Given the description of an element on the screen output the (x, y) to click on. 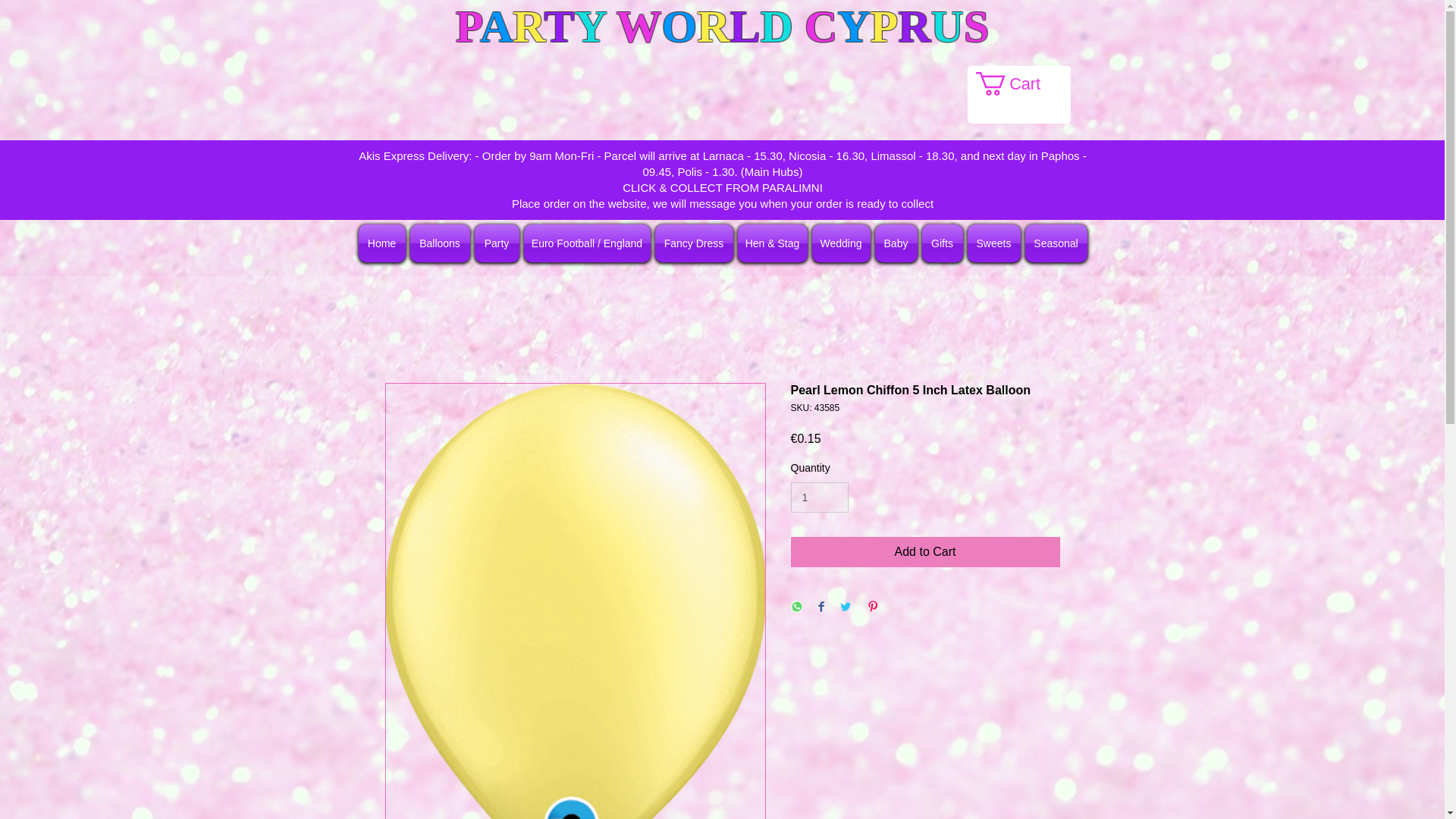
PARTY WORLD CYPRUS (722, 26)
Cart (1020, 83)
1 (818, 497)
Home (382, 243)
Party (496, 243)
Balloons (439, 243)
Cart (1020, 83)
